Given the description of an element on the screen output the (x, y) to click on. 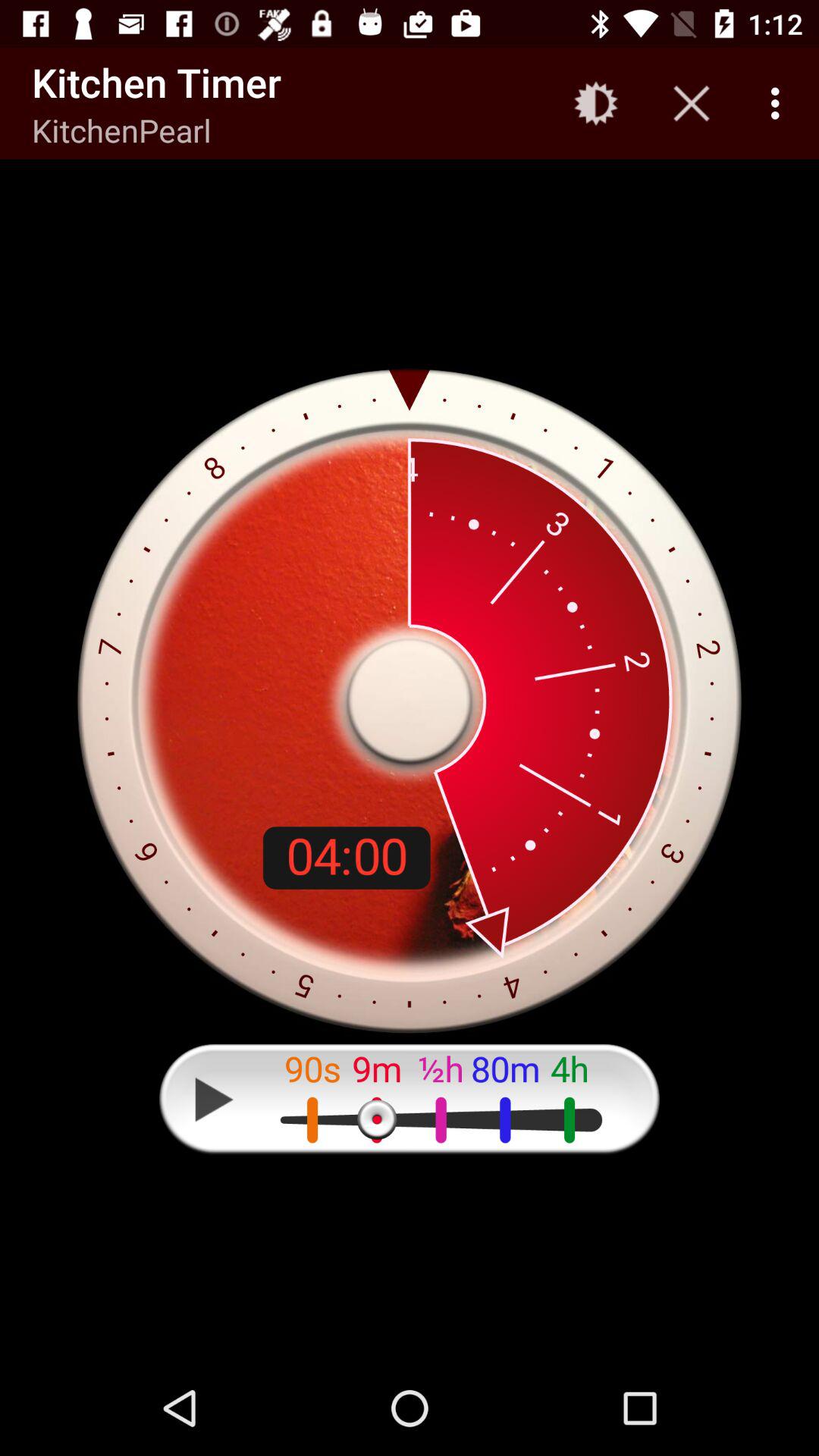
turn on the icon next to the kitchen timer app (595, 103)
